Given the description of an element on the screen output the (x, y) to click on. 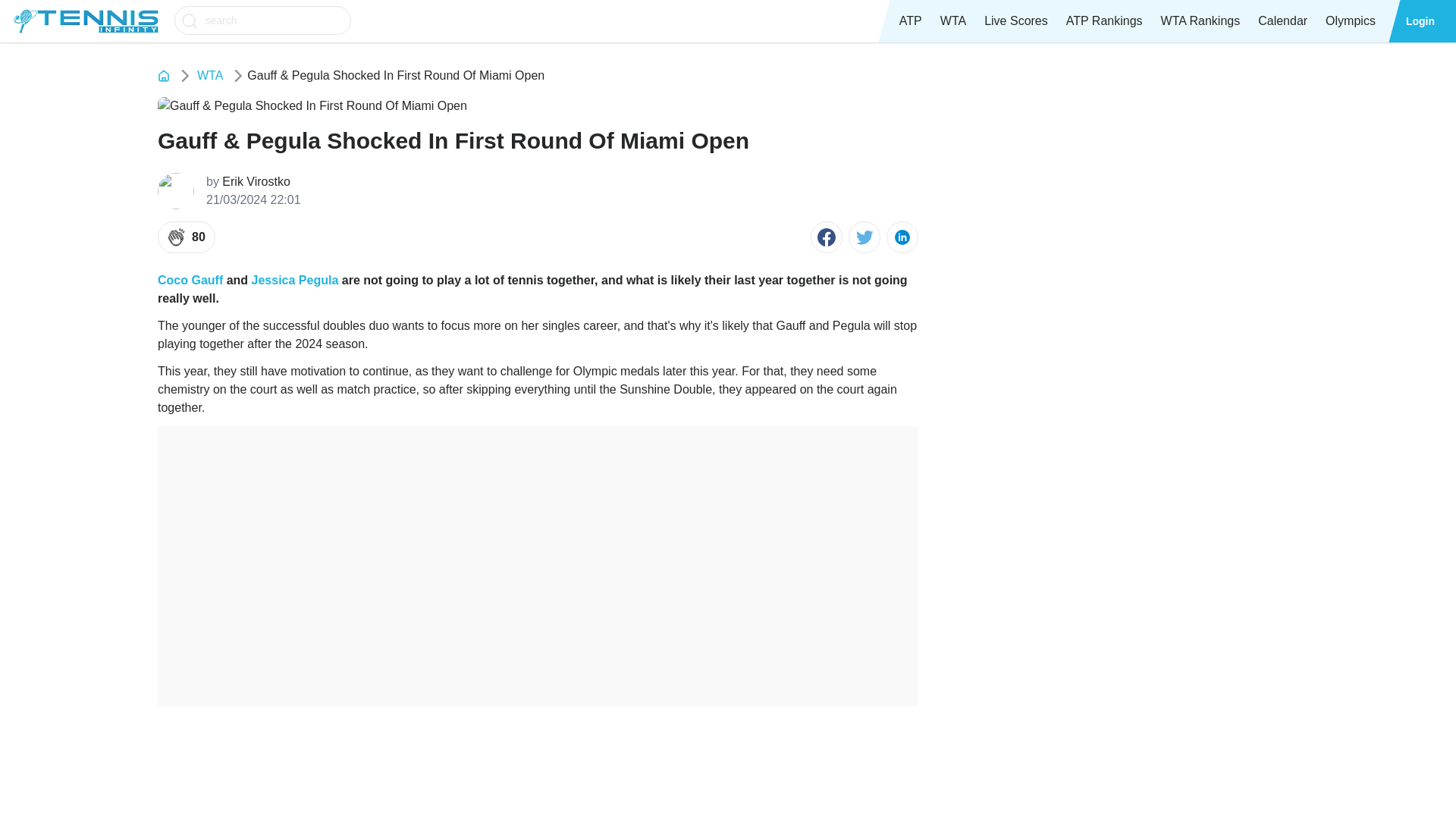
WTA Rankings (1200, 21)
Jessica Pegula (295, 279)
Jessica Pegula (295, 279)
WTA (209, 75)
ATP Rankings (1104, 21)
Olympics (1350, 21)
Login (1420, 20)
Coco Gauff (189, 279)
Live Scores (1016, 21)
Calendar (1282, 21)
by Erik Virostko (253, 181)
WTA (953, 21)
Coco Gauff (189, 279)
ATP (910, 21)
80 (186, 237)
